Given the description of an element on the screen output the (x, y) to click on. 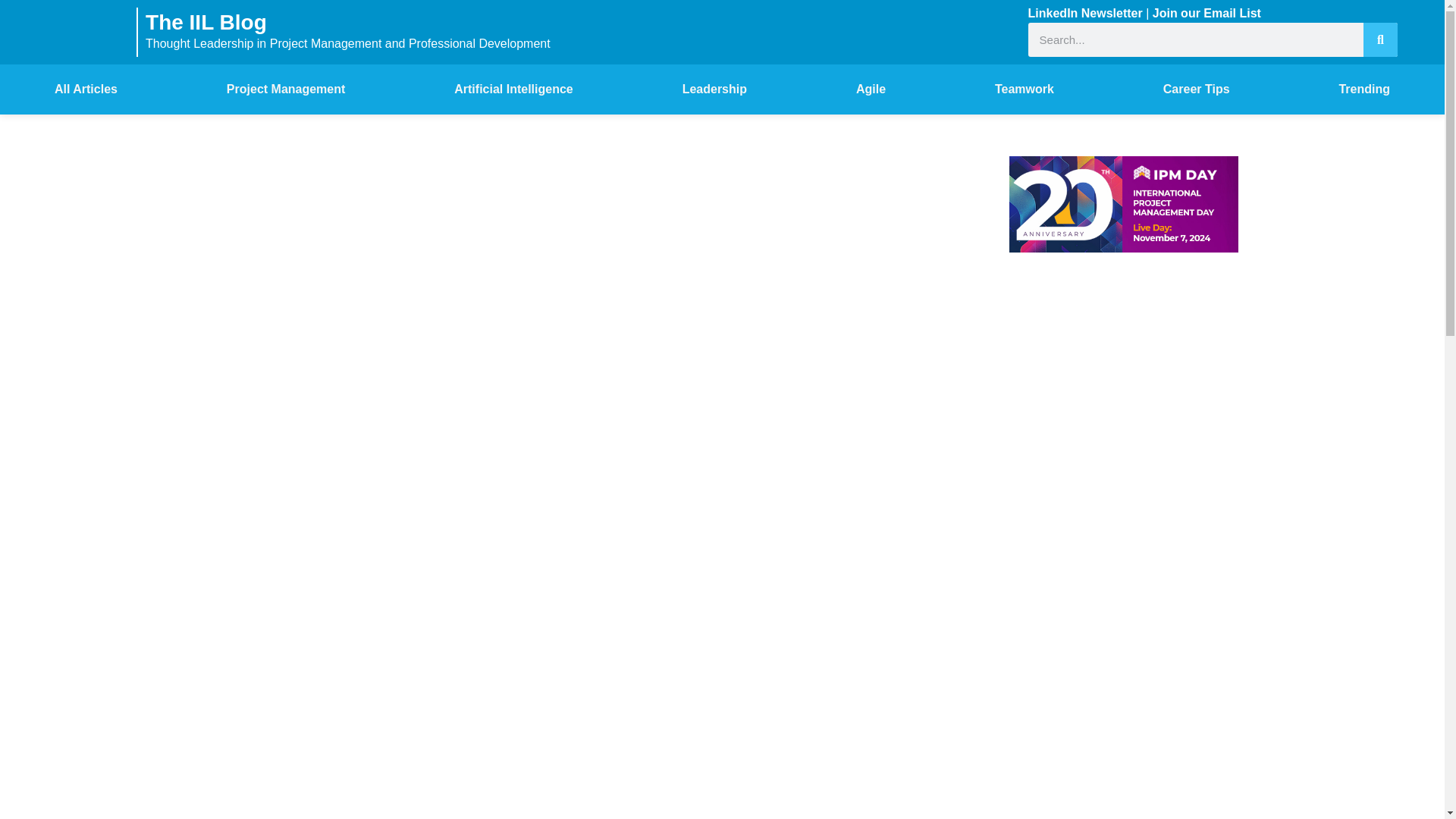
Project Management (284, 89)
Search (1379, 39)
Leadership (714, 89)
Teamwork (1024, 89)
Career Tips (1196, 89)
Agile (871, 89)
Join our Email List (1206, 12)
Artificial Intelligence (512, 89)
All Articles (85, 89)
